Given the description of an element on the screen output the (x, y) to click on. 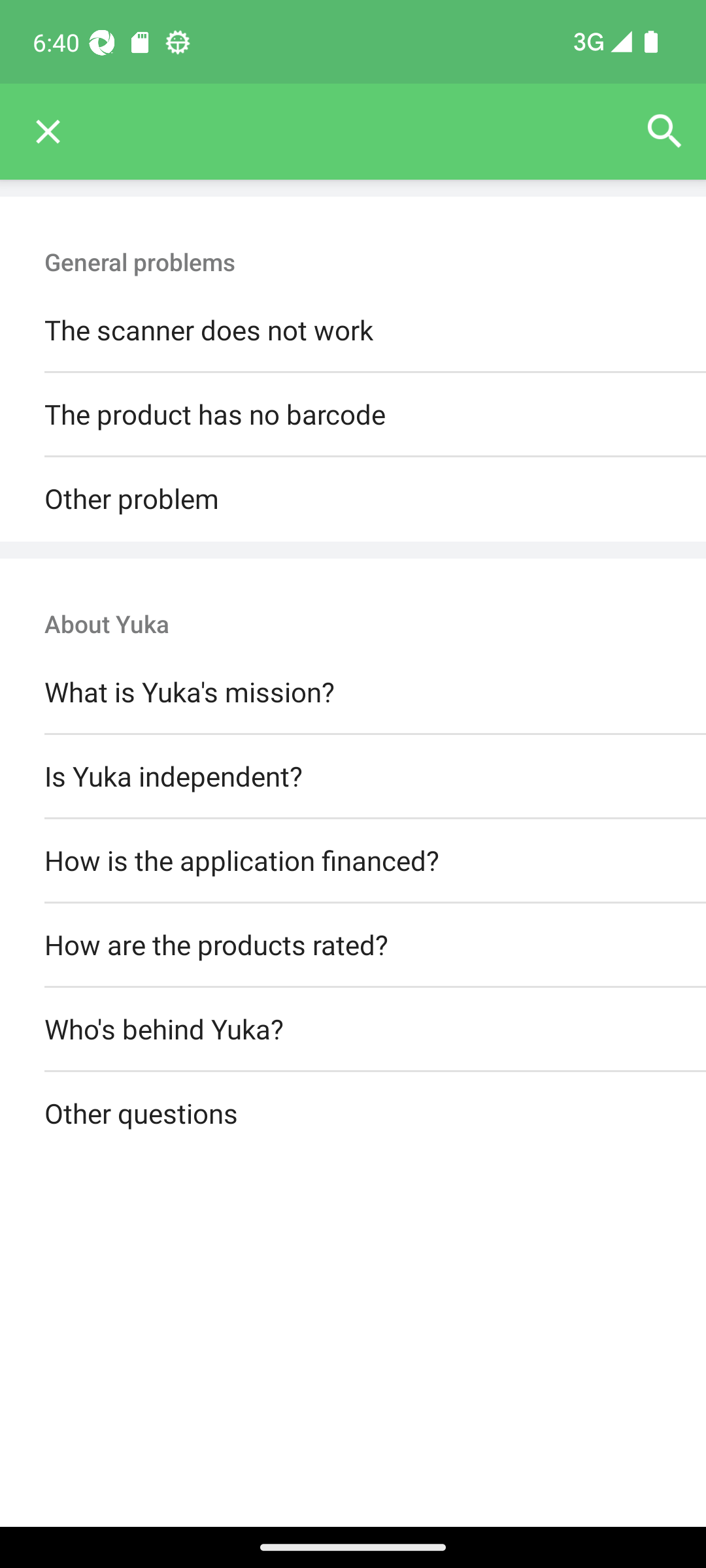
Search (664, 131)
The scanner does not work (353, 330)
The product has no barcode (353, 415)
Other problem (353, 498)
What is Yuka's mission? (353, 692)
Is Yuka independent? (353, 776)
How is the application financed? (353, 860)
How are the products rated? (353, 945)
Who's behind Yuka? (353, 1029)
Other questions (353, 1114)
